Given the description of an element on the screen output the (x, y) to click on. 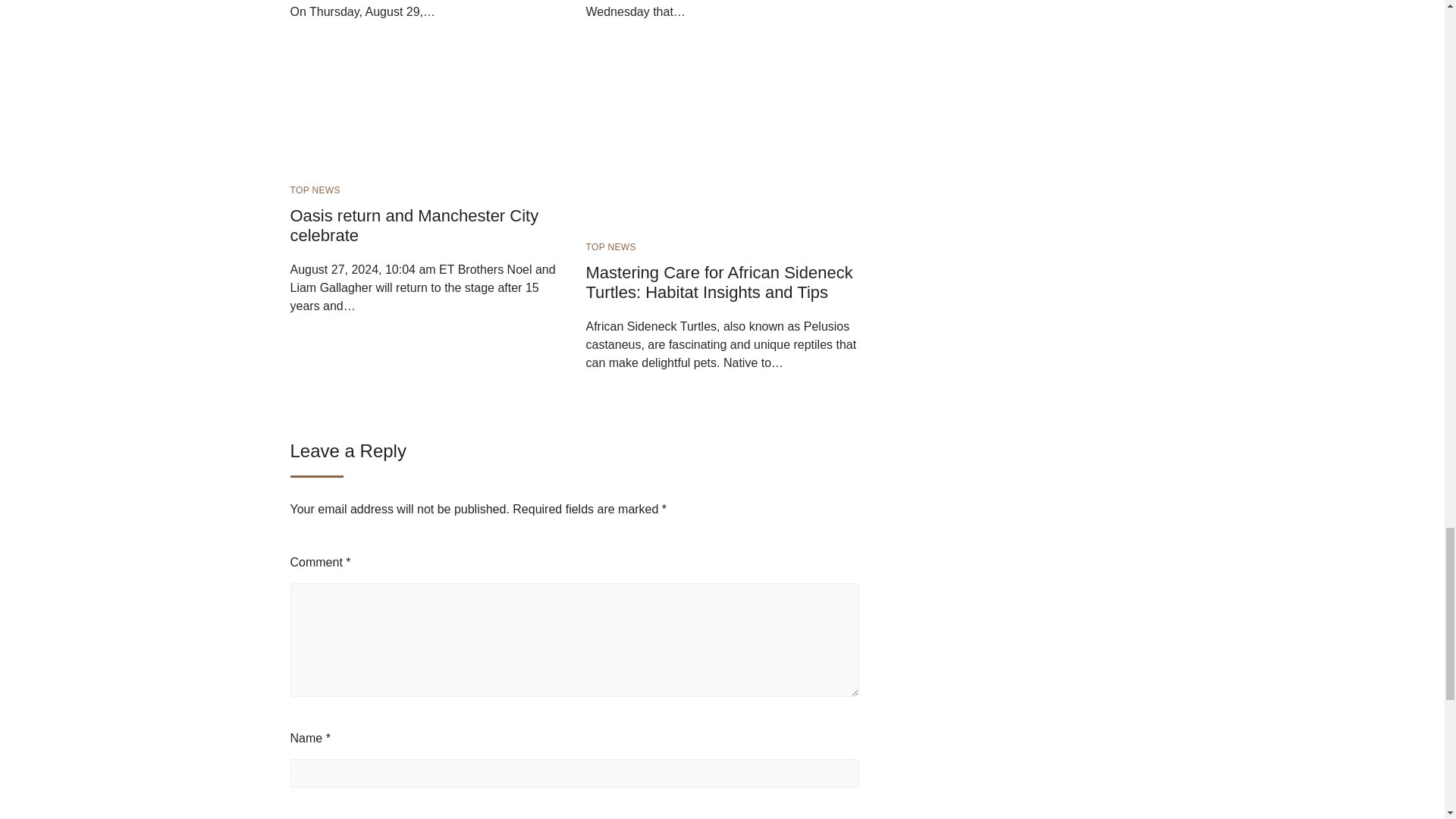
TOP NEWS (609, 246)
Oasis return and Manchester City celebrate (402, 101)
TOP NEWS (314, 190)
Oasis return and Manchester City celebrate (413, 225)
